Given the description of an element on the screen output the (x, y) to click on. 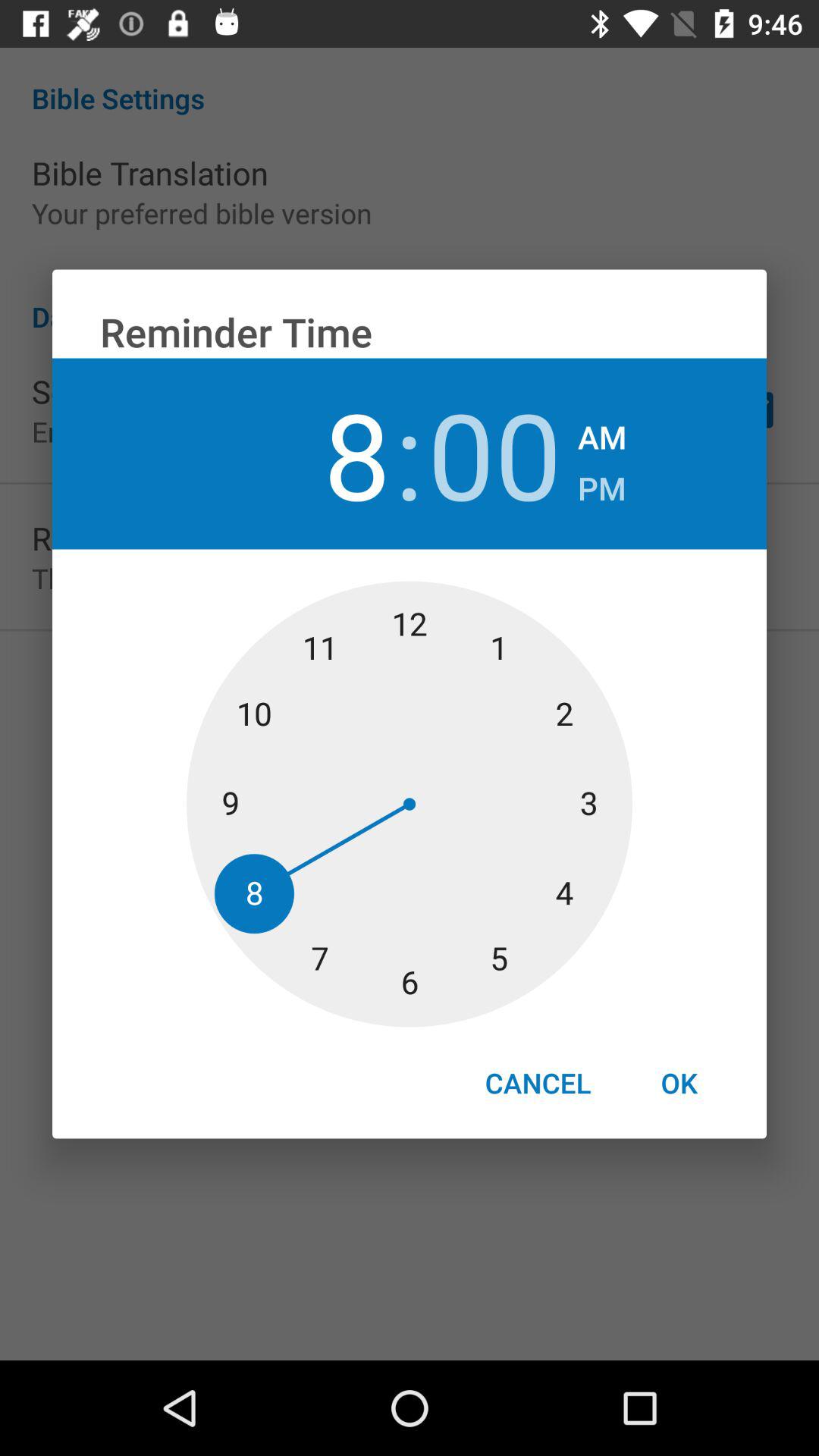
turn on icon to the right of the 00 (601, 432)
